Given the description of an element on the screen output the (x, y) to click on. 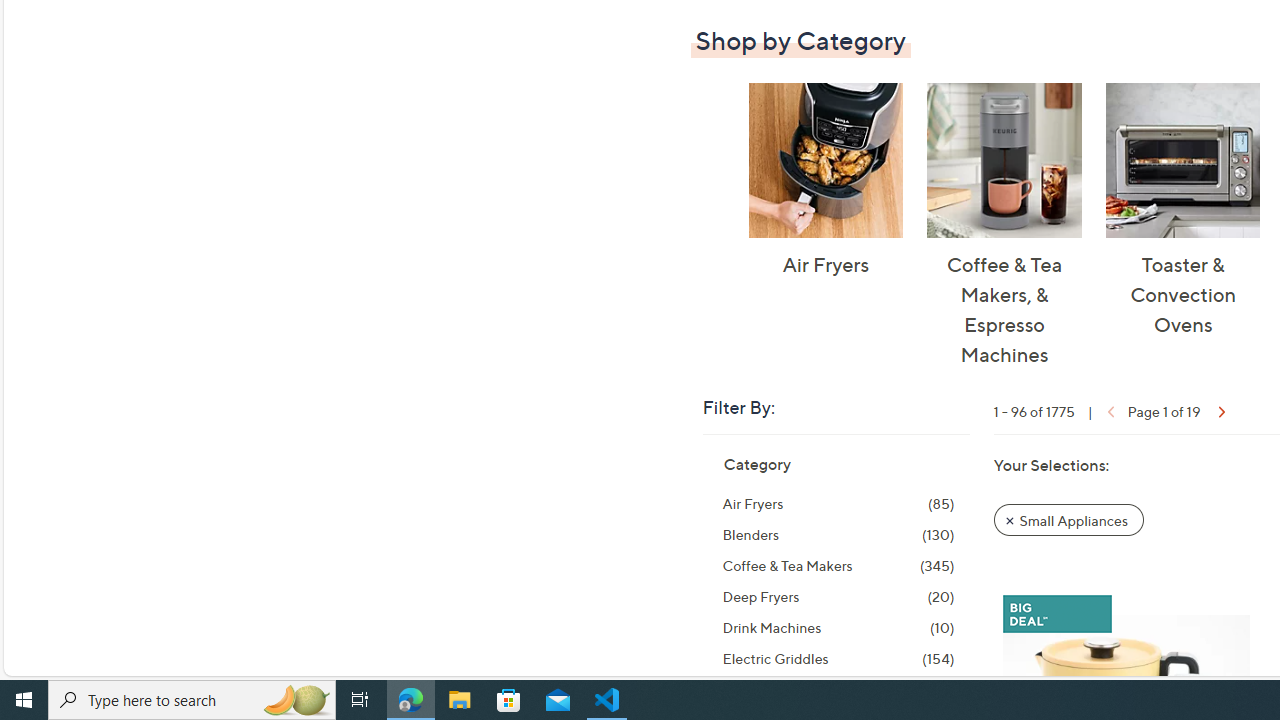
Air Fryers Air Fryers (825, 181)
Toaster & Convection Ovens Toaster & Convection Ovens (1182, 210)
